Given the description of an element on the screen output the (x, y) to click on. 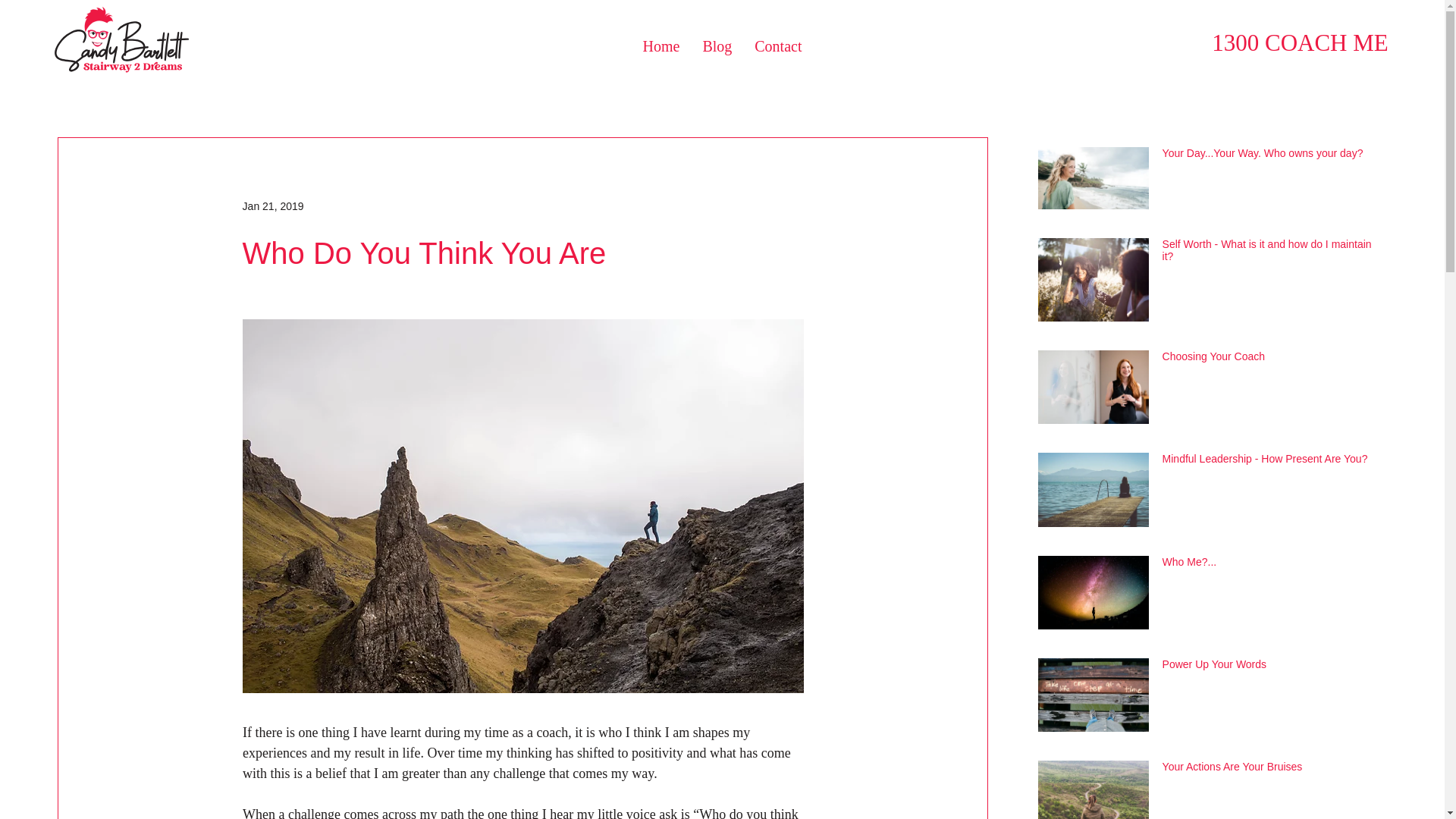
Jan 21, 2019 (273, 205)
Power Up Your Words (1267, 667)
Home (660, 46)
Your Day...Your Way. Who owns your day? (1267, 156)
Mindful Leadership - How Present Are You? (1267, 461)
Blog (716, 46)
Contact (778, 46)
Your Actions Are Your Bruises (1267, 769)
Choosing Your Coach (1267, 359)
Self Worth - What is it and how do I maintain it? (1267, 253)
Who Me?... (1267, 565)
